Given the description of an element on the screen output the (x, y) to click on. 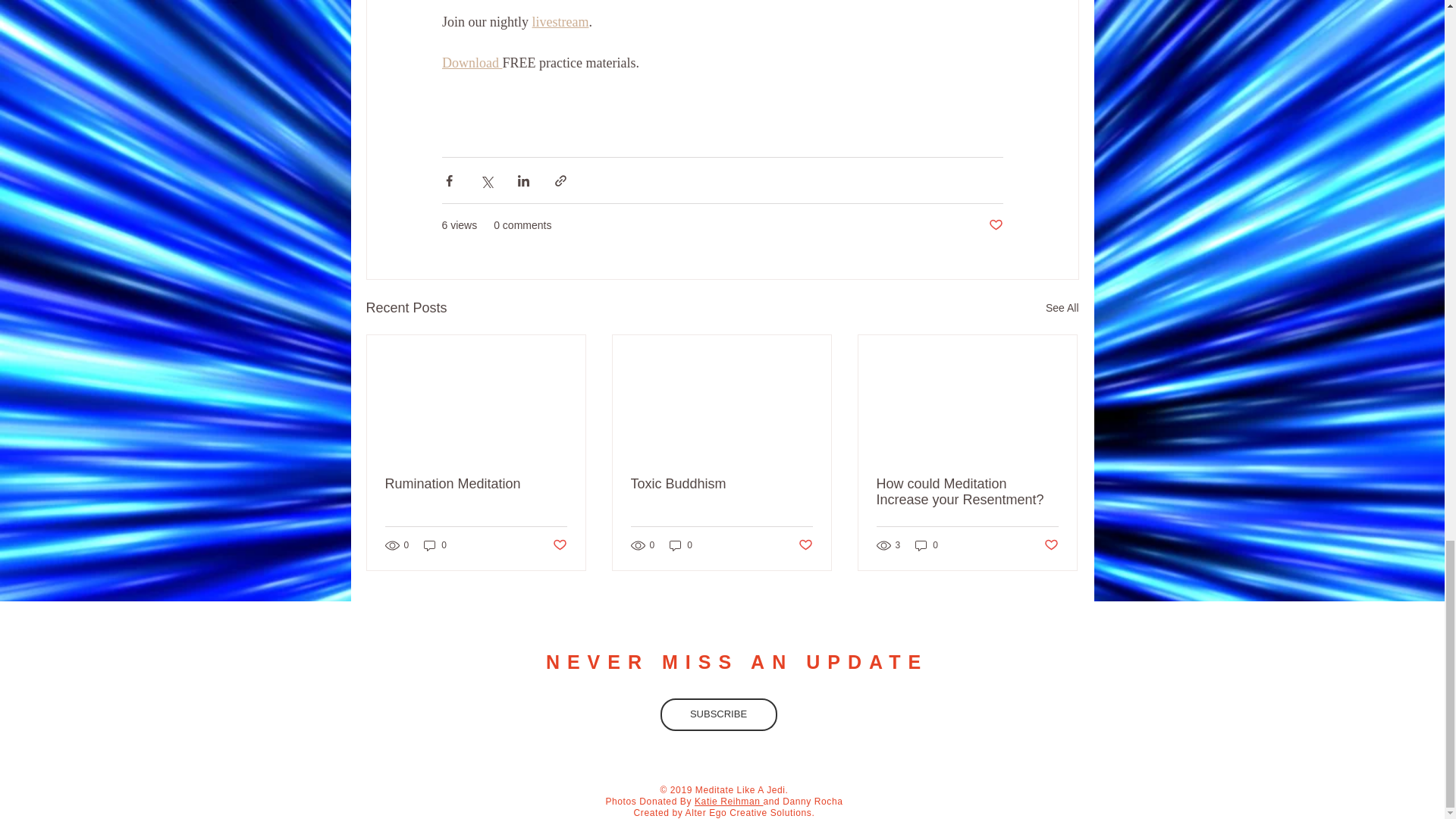
livestream (559, 21)
Post not marked as liked (995, 225)
Post not marked as liked (558, 544)
Toxic Buddhism (721, 483)
0 (435, 545)
Post not marked as liked (804, 544)
How could Meditation Increase your Resentment? (967, 491)
Rumination Meditation (476, 483)
0 (681, 545)
See All (1061, 308)
Download  (471, 62)
Post not marked as liked (1050, 544)
0 (926, 545)
SUBSCRIBE (717, 714)
